Given the description of an element on the screen output the (x, y) to click on. 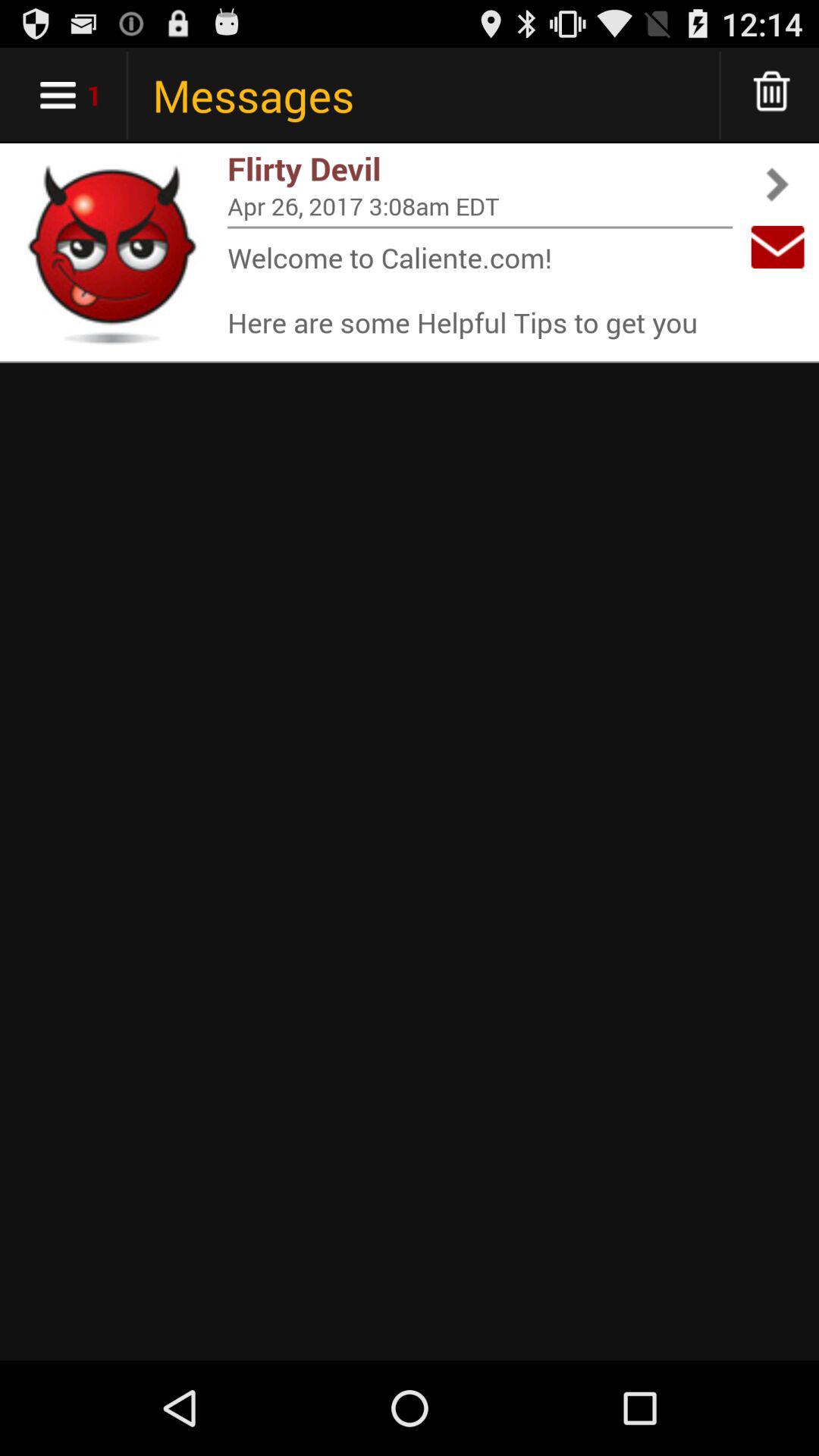
turn on the item above the apr 26 2017 item (479, 168)
